Given the description of an element on the screen output the (x, y) to click on. 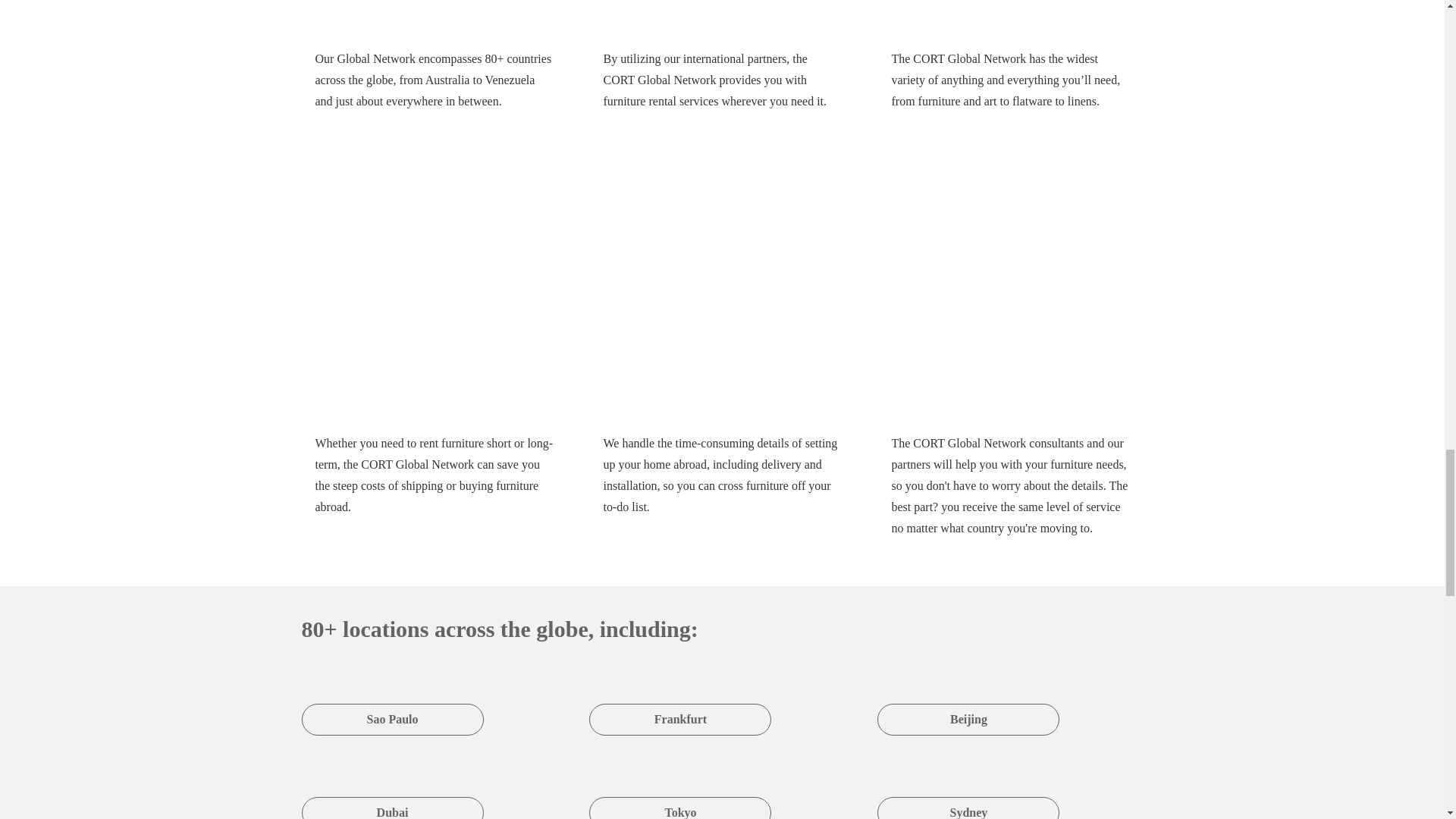
Beijing (968, 699)
Frankfurt (680, 699)
Dubai (392, 788)
Tokyo (680, 788)
Sao Paulo (392, 699)
Sydney (968, 788)
